Given the description of an element on the screen output the (x, y) to click on. 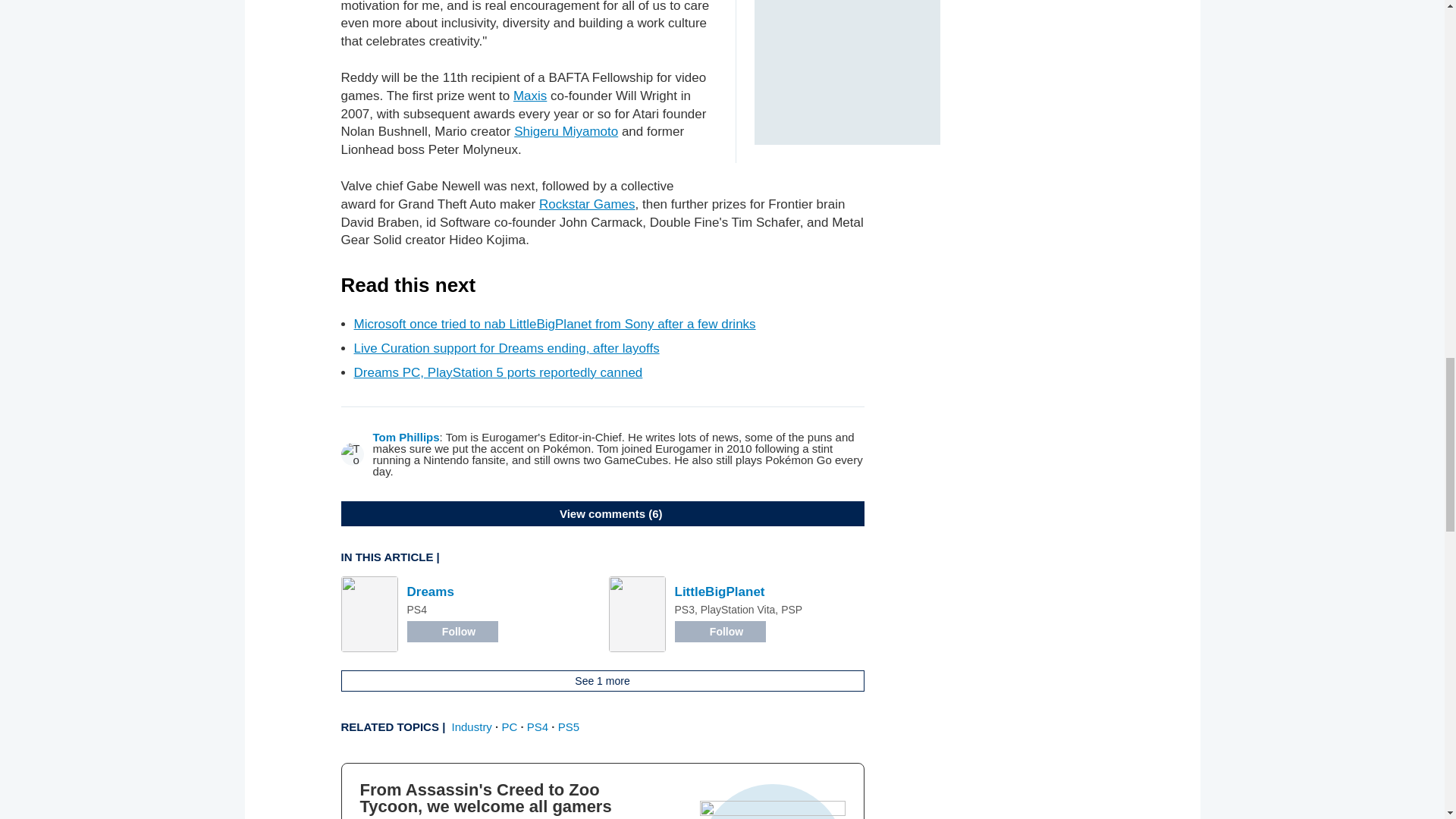
Rockstar Games (586, 204)
Dreams PC, PlayStation 5 ports reportedly canned (497, 372)
Maxis (530, 95)
Shigeru Miyamoto (565, 131)
Live Curation support for Dreams ending, after layoffs (506, 348)
